Given the description of an element on the screen output the (x, y) to click on. 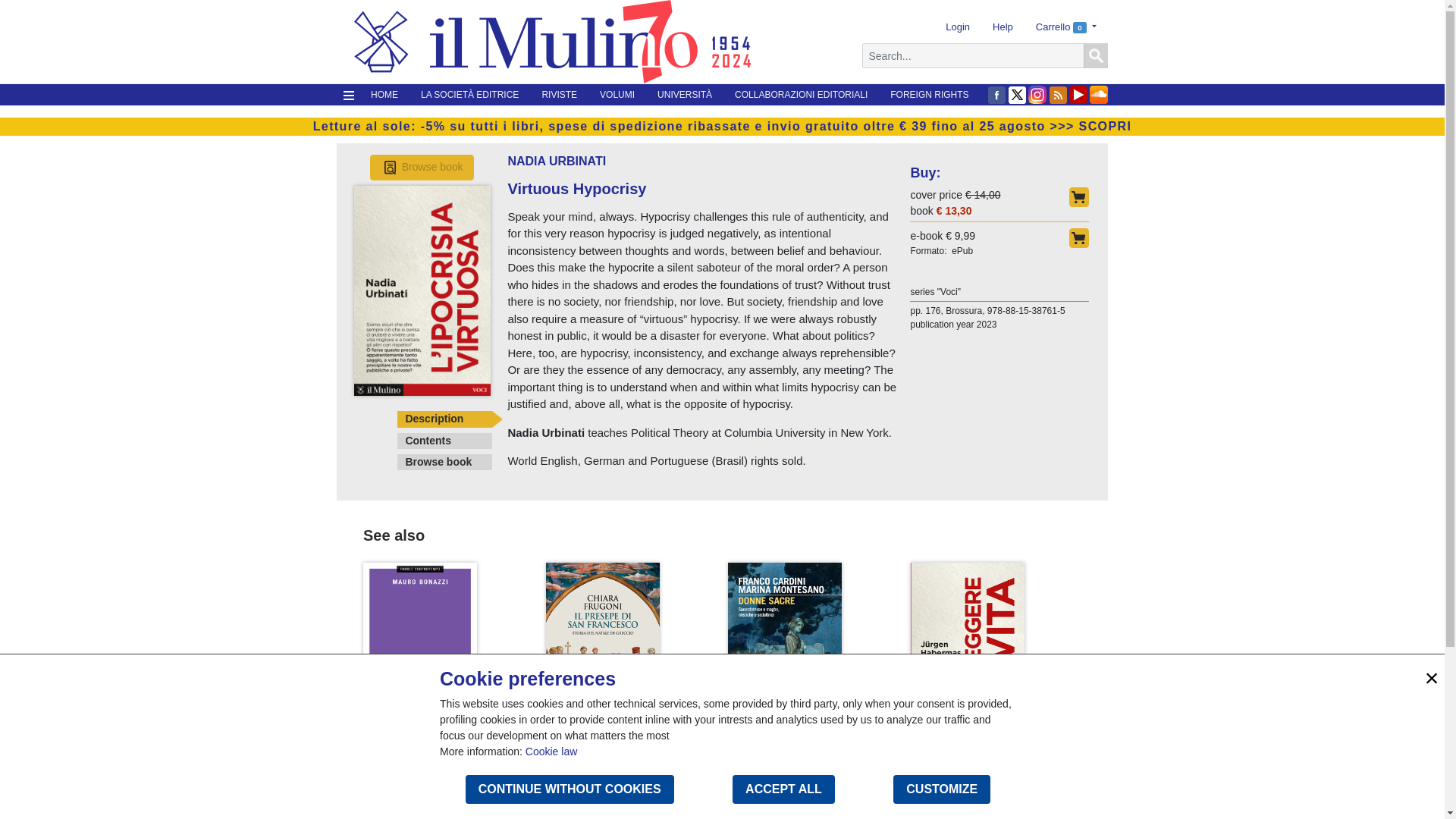
Volumi (617, 94)
Instagram (1036, 94)
Search (1095, 55)
Carrello 0 (1066, 27)
Collaborazioni editoriali (801, 94)
RIVISTE (558, 94)
Foreign rights (929, 94)
facebook (996, 94)
Login (957, 26)
Riviste (558, 94)
RSS feed (1057, 94)
VOLUMI (617, 94)
Help (1003, 26)
Twitter X (1016, 94)
Login (957, 26)
